Given the description of an element on the screen output the (x, y) to click on. 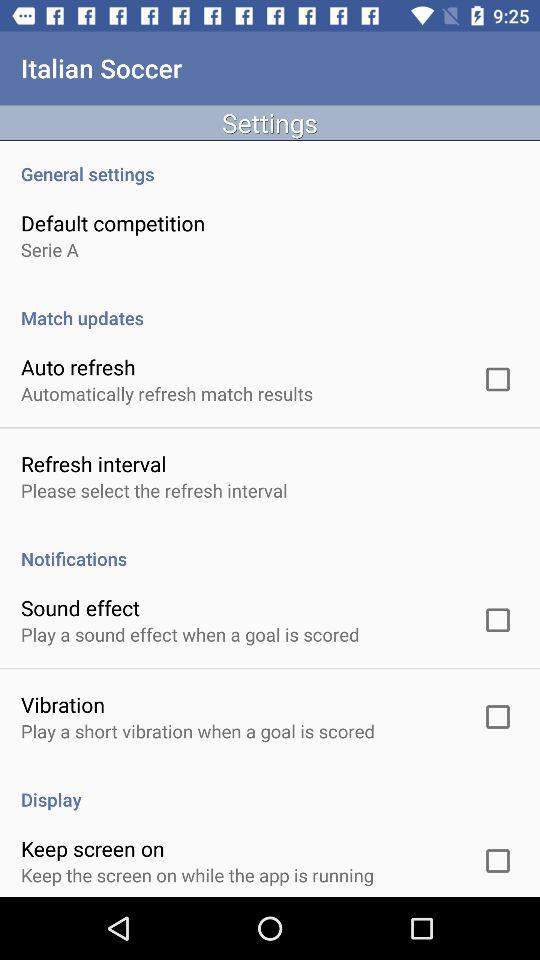
press item below please select the item (270, 548)
